Given the description of an element on the screen output the (x, y) to click on. 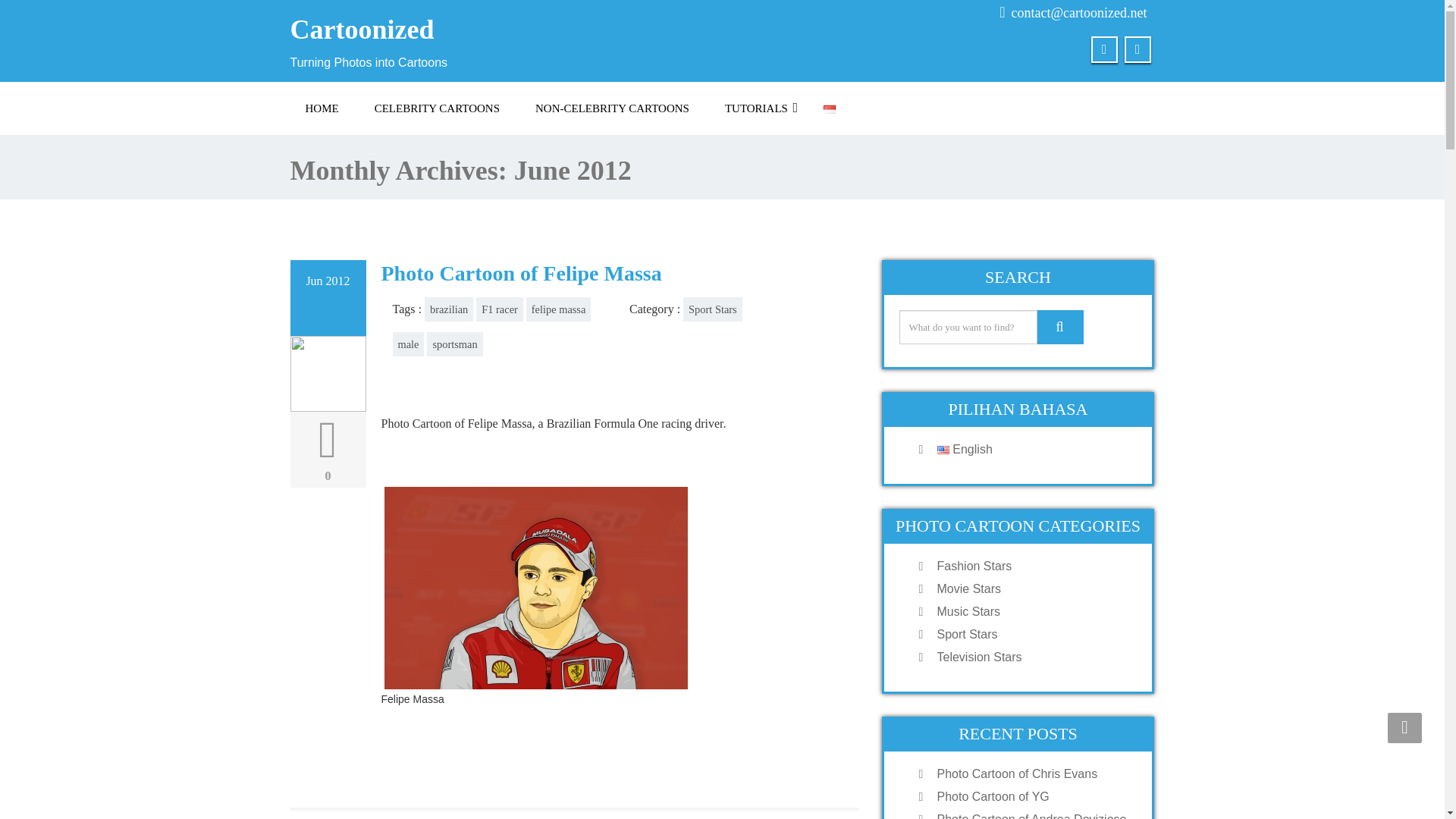
Photo Cartoon of Felipe Massa (520, 273)
F1 racer (499, 309)
HOME (321, 108)
Cartoonized (499, 30)
felipe massa (558, 309)
Twitter (1104, 49)
NON-CELEBRITY CARTOONS (611, 108)
brazilian (449, 309)
CELEBRITY CARTOONS (437, 108)
sportsman (453, 344)
